Given the description of an element on the screen output the (x, y) to click on. 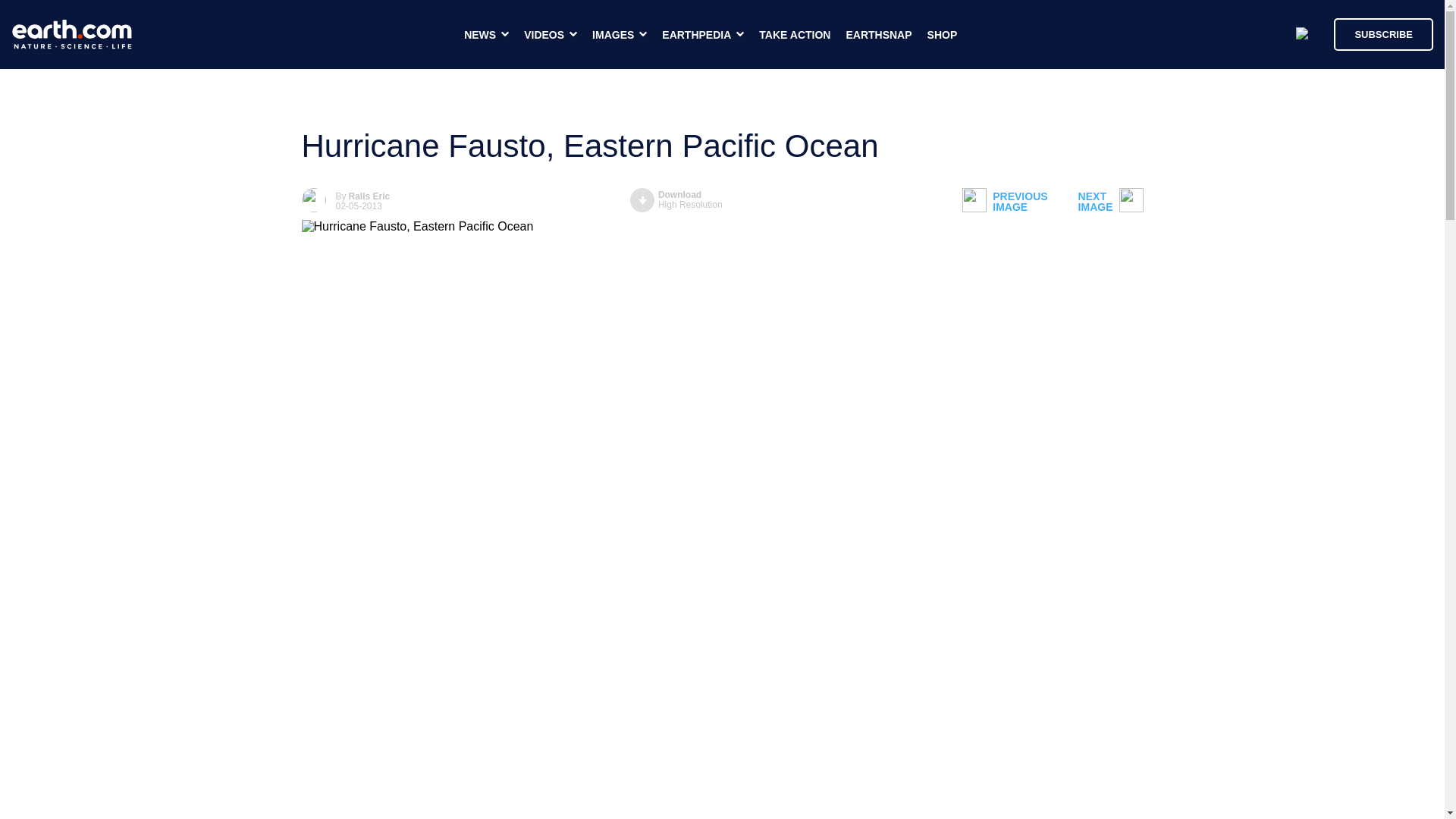
SUBSCRIBE (676, 200)
EARTHSNAP (1110, 201)
TAKE ACTION (1382, 34)
SHOP (878, 34)
Ralls Eric (793, 34)
